Given the description of an element on the screen output the (x, y) to click on. 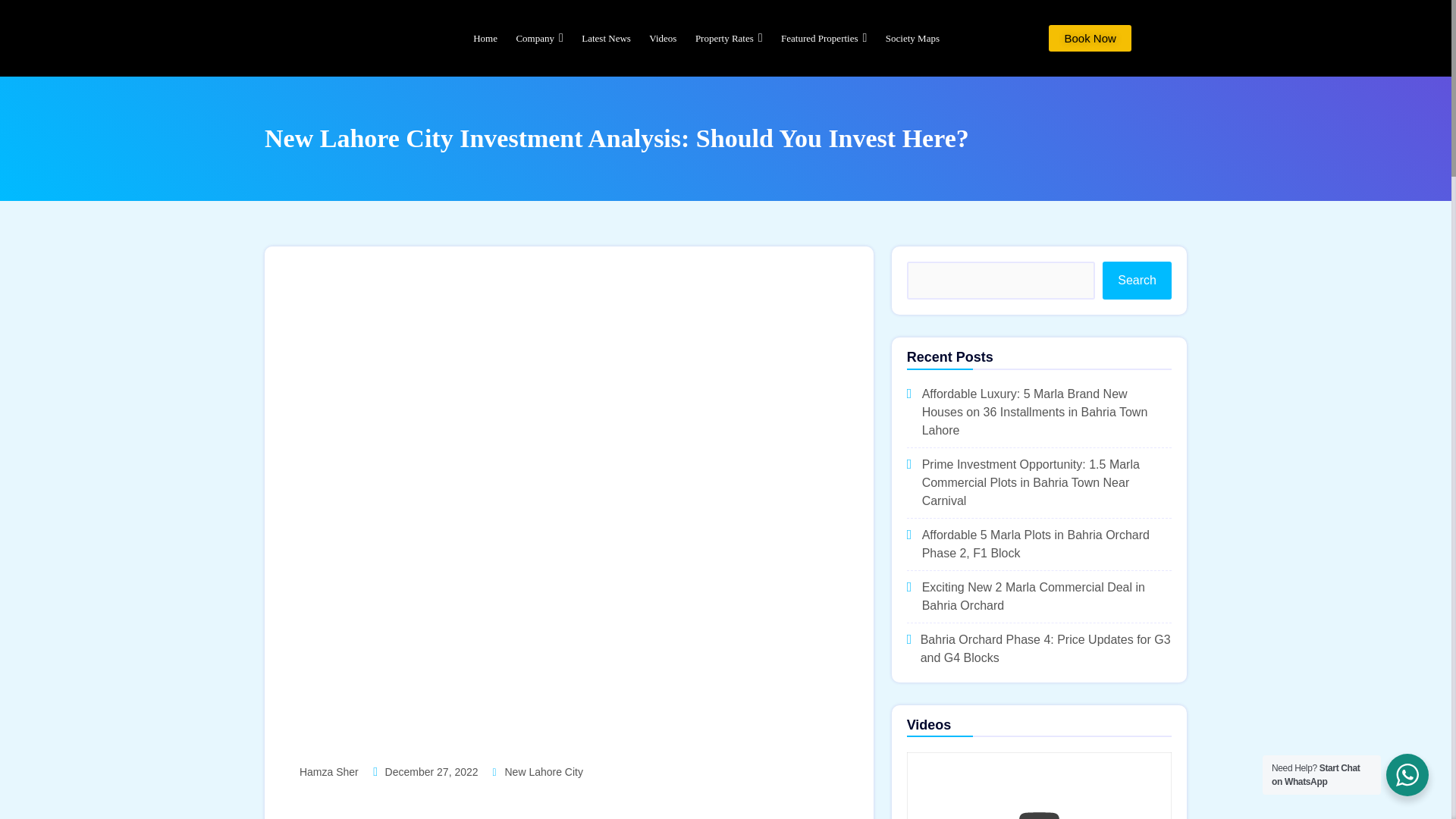
Company (539, 37)
cdb-new-logo-w.png (329, 37)
Property Rates (728, 37)
Society Maps (908, 38)
Book Now (1089, 38)
Featured Properties (824, 37)
Latest News (606, 38)
